Given the description of an element on the screen output the (x, y) to click on. 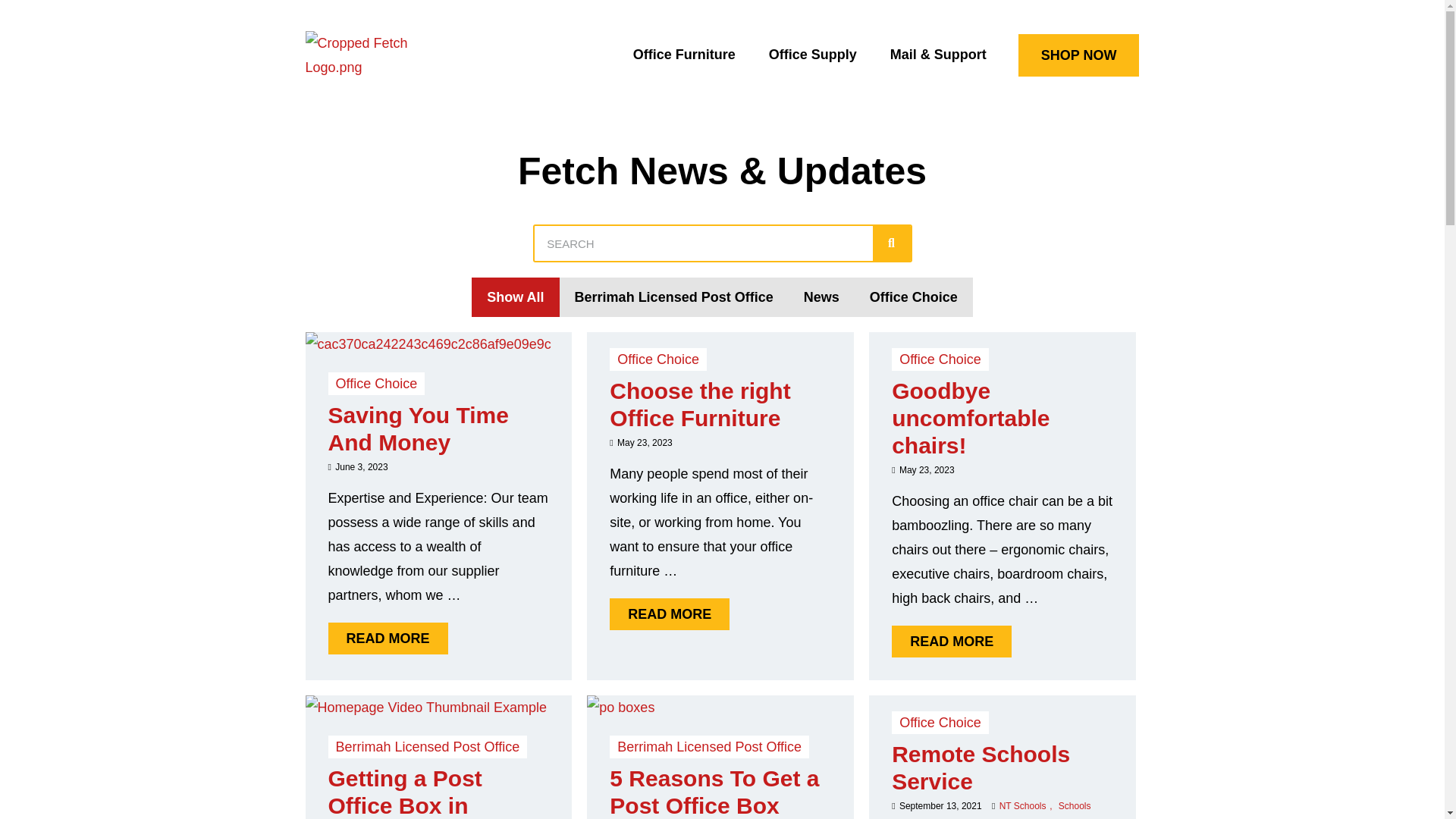
Saving You Time And Money Element type: text (417, 428)
SHOP NOW Element type: text (1078, 55)
Berrimah Licensed Post Office Element type: text (709, 746)
READ MORE Element type: text (387, 638)
5 Reasons To Get a Post Office Box Element type: hover (620, 707)
Office Choice Element type: text (376, 383)
NT Schools Element type: text (1027, 806)
cac370ca242243c469c2c86af9e09e9c Element type: hover (427, 344)
Goodbye uncomfortable chairs! Element type: text (970, 418)
Remote Schools Service Element type: text (980, 767)
Office Choice Element type: text (940, 722)
Getting a Post Office Box in Berrimah for your business. Element type: hover (425, 707)
Office Choice Element type: text (940, 359)
Berrimah Licensed Post Office Element type: text (427, 746)
Mail & Support Element type: text (938, 55)
Choose the right Office Furniture Element type: text (699, 404)
Office Choice Element type: text (658, 359)
Schools Element type: text (1074, 806)
po boxes Element type: hover (620, 707)
5 Reasons To Get a Post Office Box Element type: text (714, 791)
Homepage Video Thumbnail Example Element type: hover (425, 707)
Office Supply Element type: text (812, 55)
Office Furniture Element type: text (684, 55)
Saving You Time And Money Element type: hover (427, 343)
READ MORE Element type: text (951, 641)
READ MORE Element type: text (669, 614)
